Given the description of an element on the screen output the (x, y) to click on. 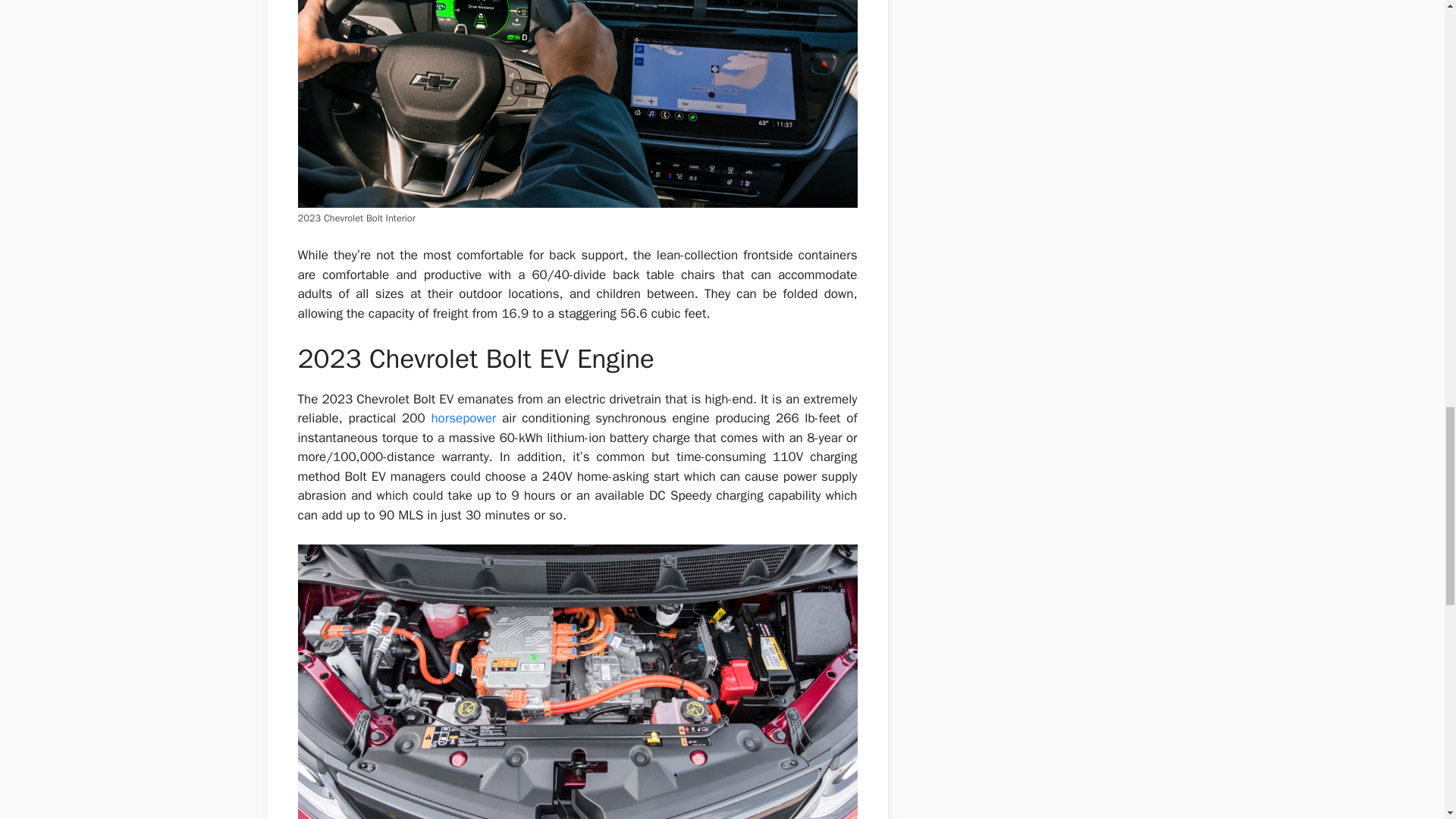
horsepower (463, 417)
